Given the description of an element on the screen output the (x, y) to click on. 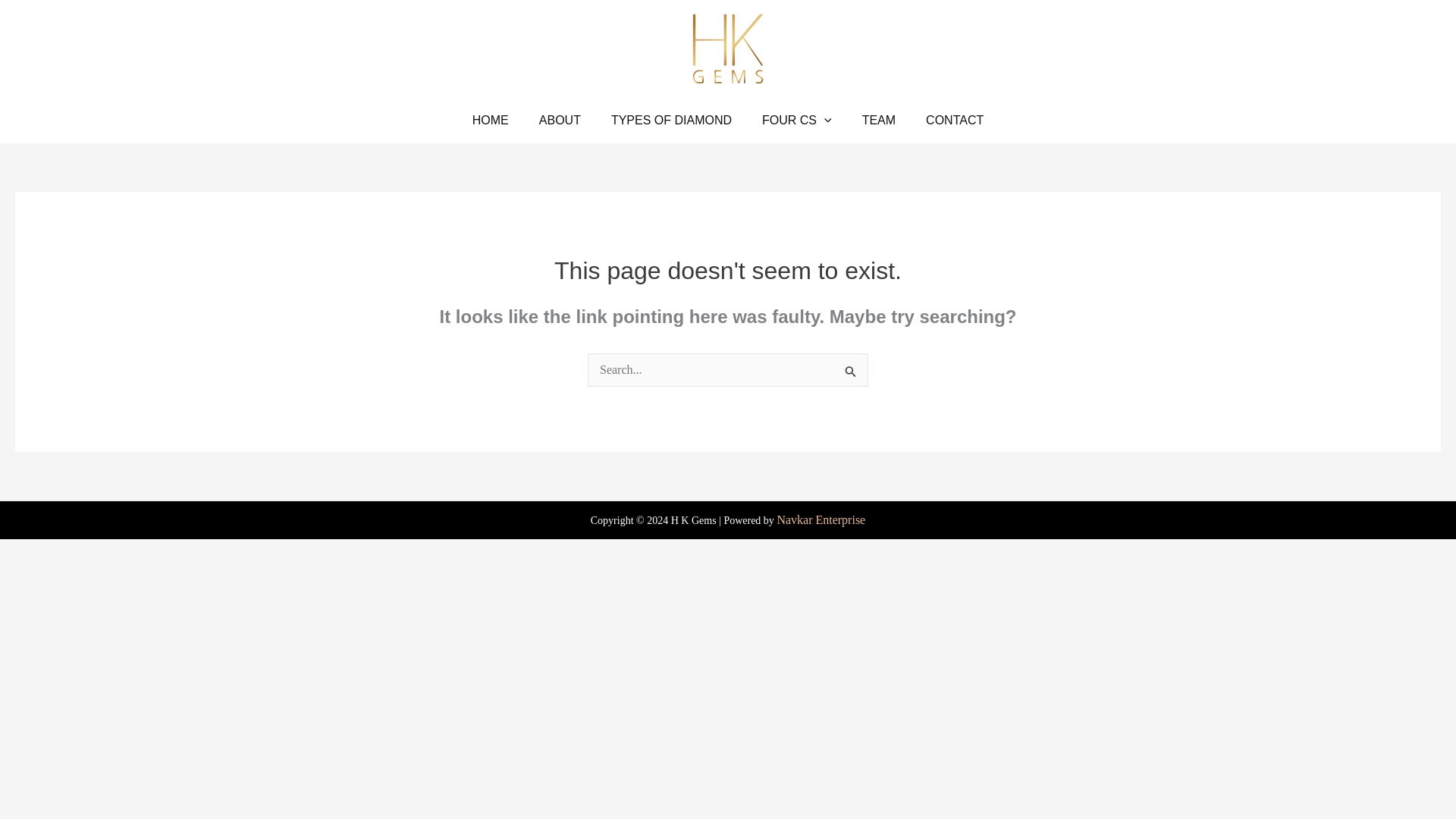
FOUR CS (796, 120)
TYPES OF DIAMOND (670, 120)
CONTACT (954, 120)
TEAM (879, 120)
HOME (490, 120)
ABOUT (559, 120)
